Given the description of an element on the screen output the (x, y) to click on. 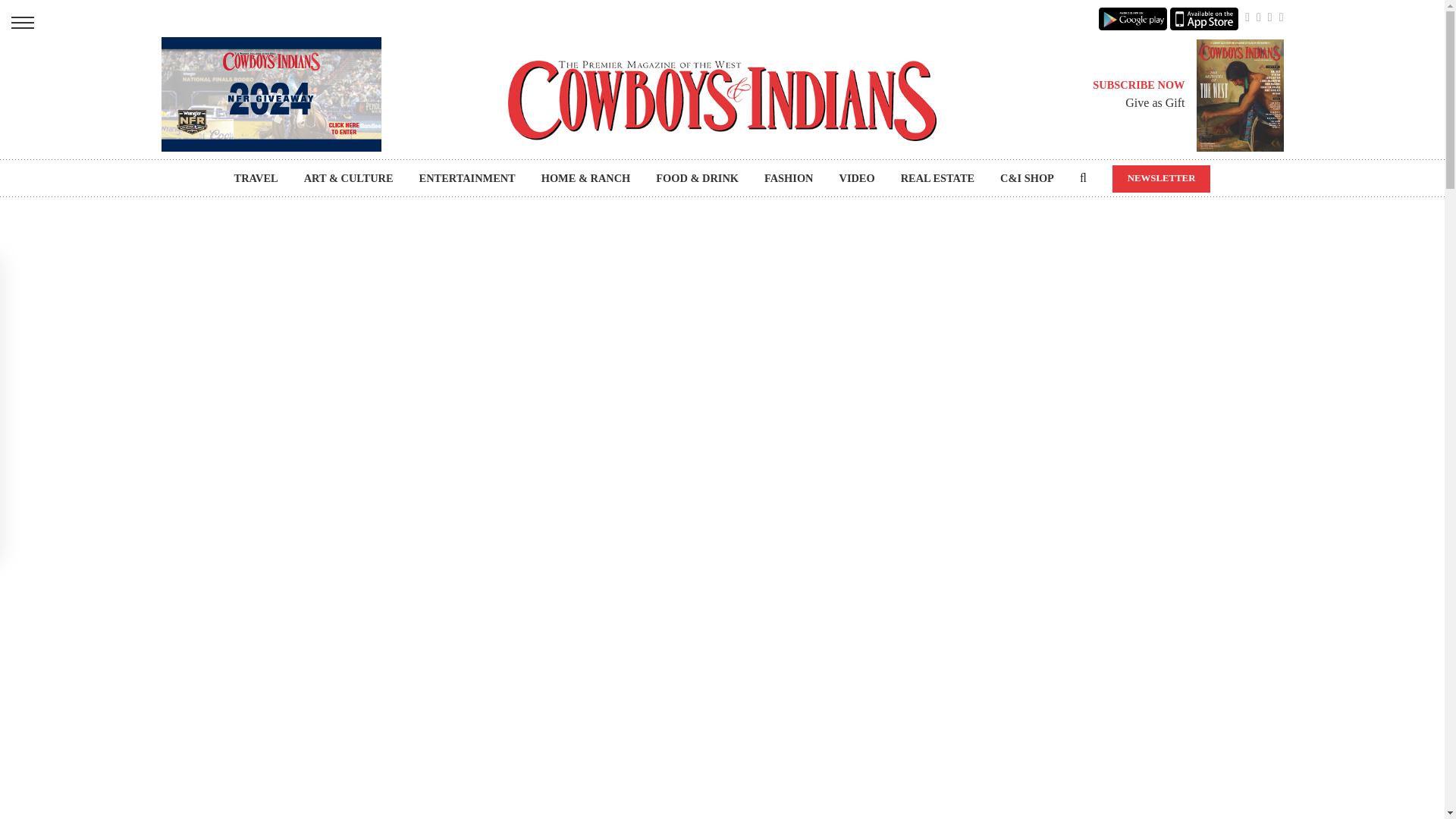
Cowboys and Indians Magazine (722, 100)
